Given the description of an element on the screen output the (x, y) to click on. 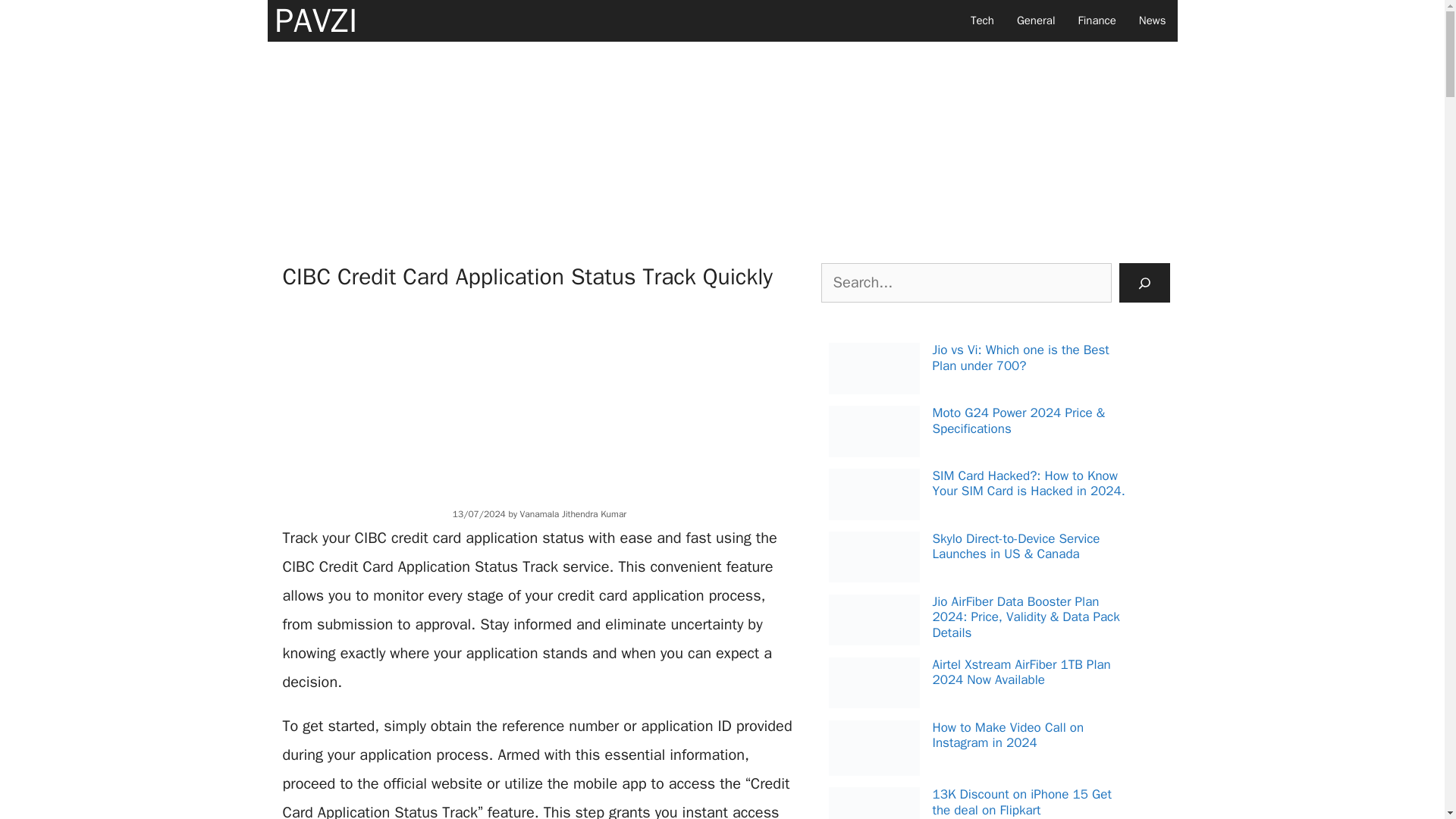
General (1036, 20)
News (1151, 20)
Jio vs Vi: Which one is the Best Plan under 700? (1021, 357)
PAVZI (315, 20)
Finance (1096, 20)
View all posts by Vanamala Jithendra Kumar (573, 513)
Tech (982, 20)
Advertisement (539, 396)
Vanamala Jithendra Kumar (573, 513)
